Given the description of an element on the screen output the (x, y) to click on. 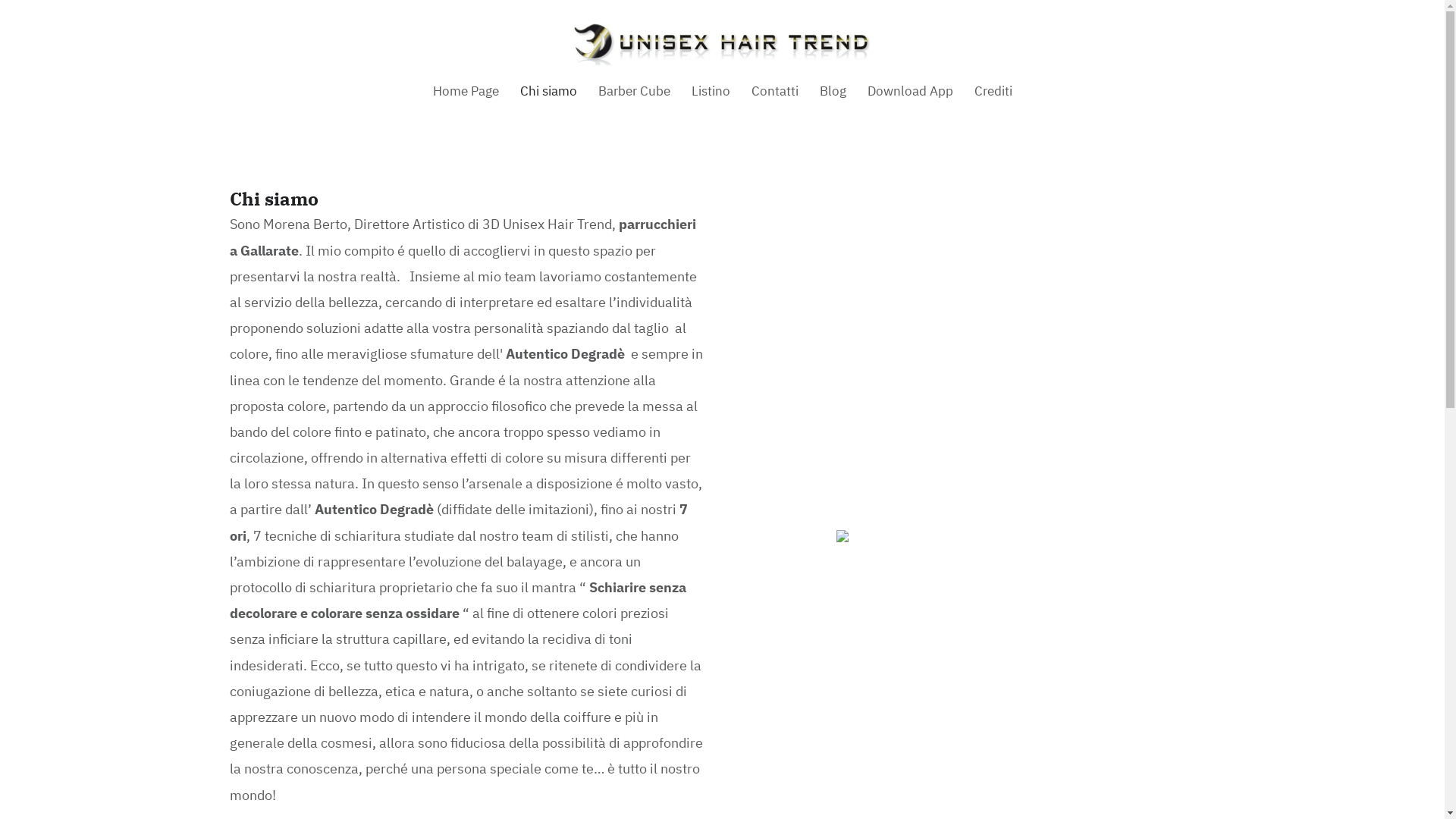
Contatti Element type: text (773, 90)
Crediti Element type: text (992, 90)
Barber Cube Element type: text (633, 90)
Listino Element type: text (710, 90)
Download App Element type: text (910, 90)
Chi siamo Element type: text (548, 90)
Home Page Element type: text (465, 90)
Blog Element type: text (831, 90)
